Given the description of an element on the screen output the (x, y) to click on. 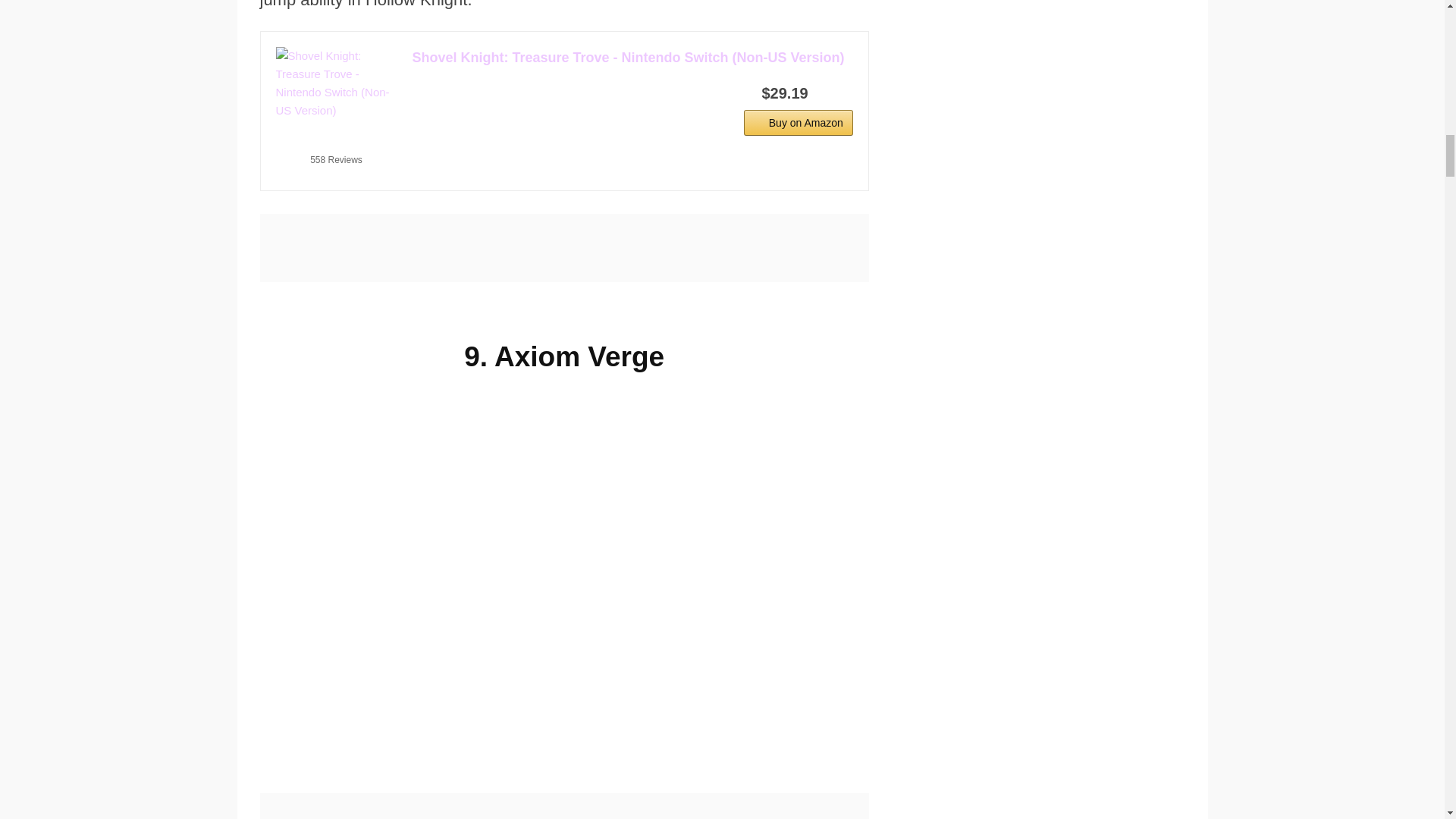
Amazon Prime (831, 92)
Reviews on Amazon (336, 140)
Buy on Amazon (798, 122)
